Given the description of an element on the screen output the (x, y) to click on. 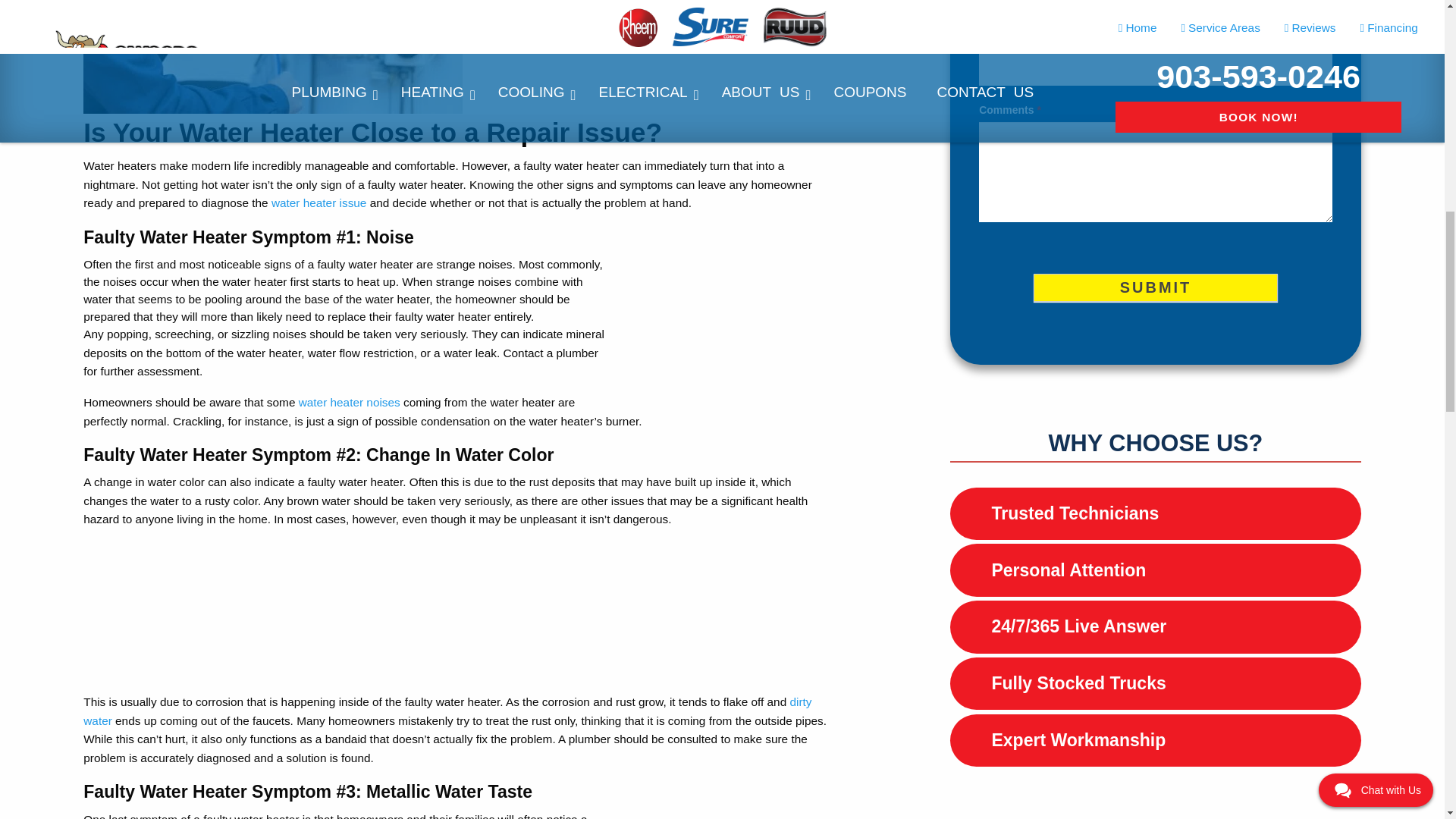
water heater noises (349, 401)
dirty water (446, 711)
water heater issue (318, 202)
